Given the description of an element on the screen output the (x, y) to click on. 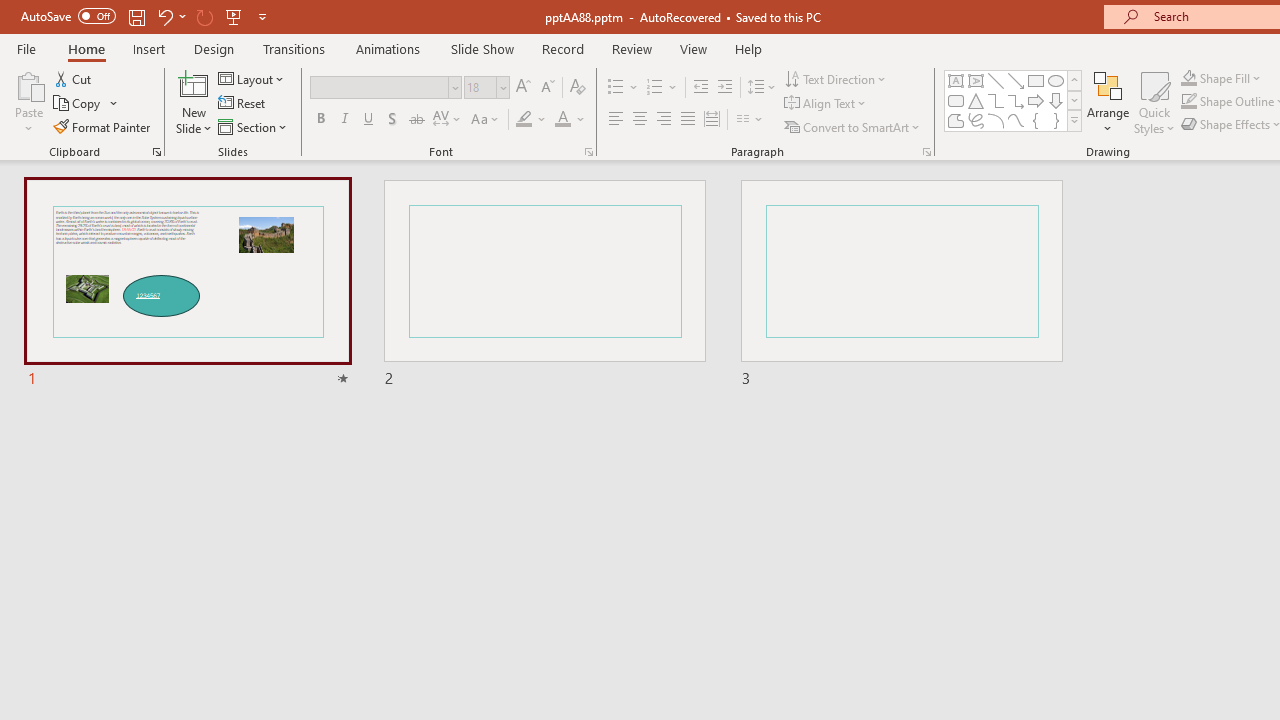
Arc (995, 120)
Paragraph... (926, 151)
Insert (149, 48)
Align Right (663, 119)
Help (748, 48)
Clear Formatting (577, 87)
Copy (85, 103)
Home (86, 48)
Paste (28, 102)
Rectangle: Rounded Corners (955, 100)
New Slide (193, 84)
Decrease Font Size (547, 87)
Font... (588, 151)
Increase Font Size (522, 87)
